Given the description of an element on the screen output the (x, y) to click on. 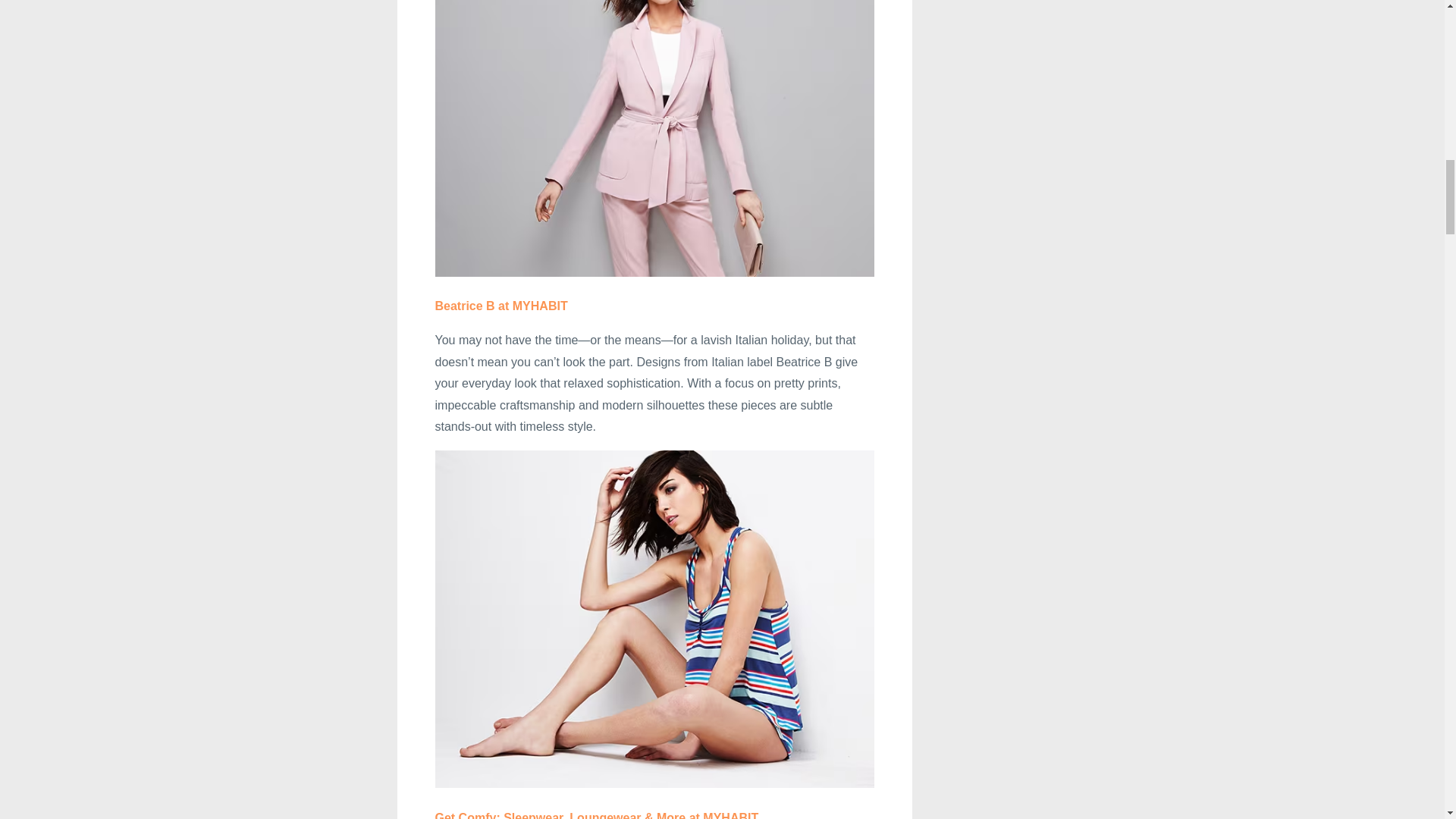
Beatrice B at MYHABIT (501, 305)
Beatrice B at MYHABIT (501, 305)
